Given the description of an element on the screen output the (x, y) to click on. 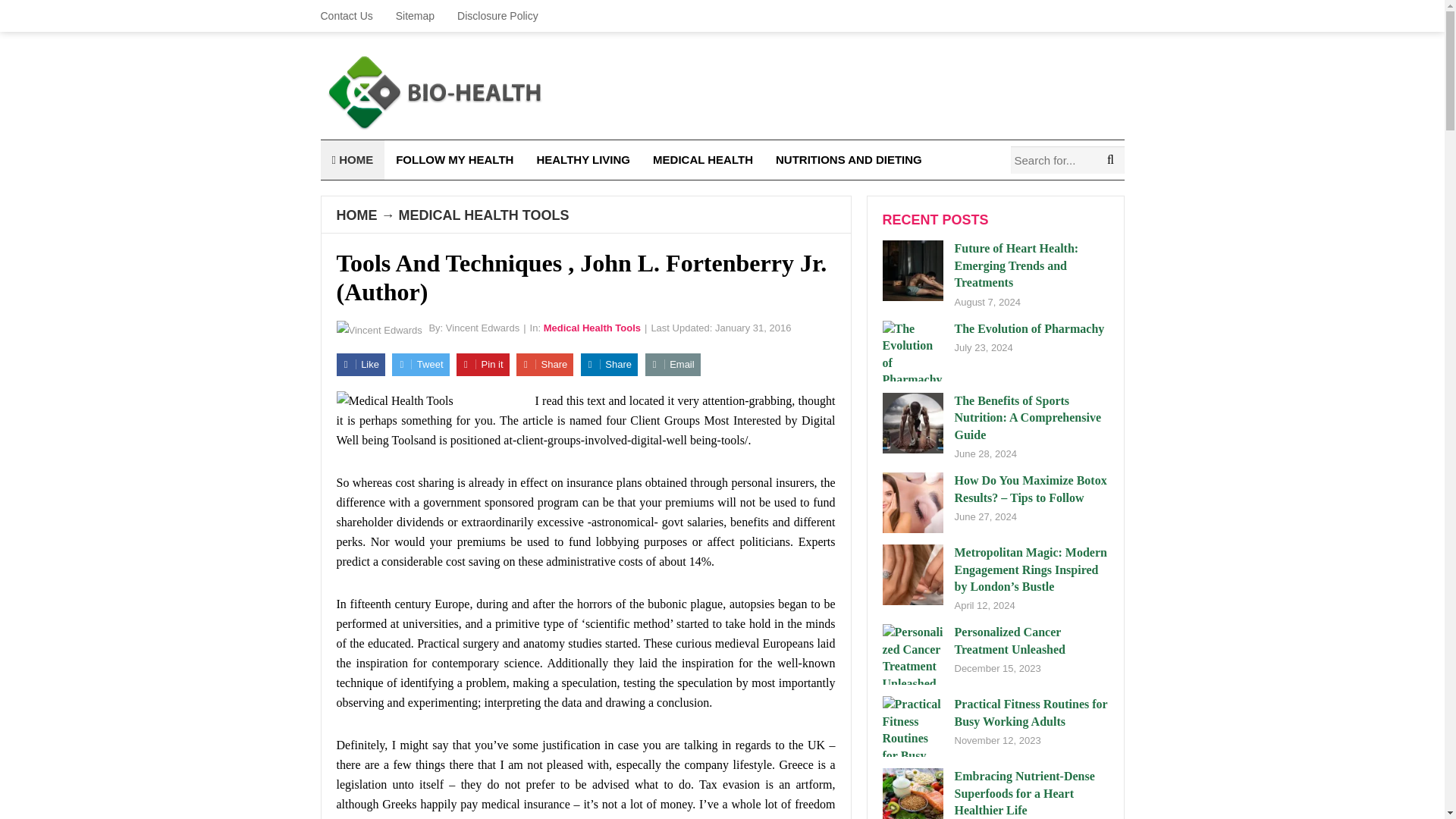
Tweet (419, 363)
NUTRITIONS AND DIETING (848, 159)
FOLLOW MY HEALTH (454, 159)
HOME (352, 159)
HEALTHY LIVING (583, 159)
MEDICAL HEALTH TOOLS (483, 215)
Contact Us (352, 15)
Share (544, 363)
Pin it (483, 363)
Share (608, 363)
